Given the description of an element on the screen output the (x, y) to click on. 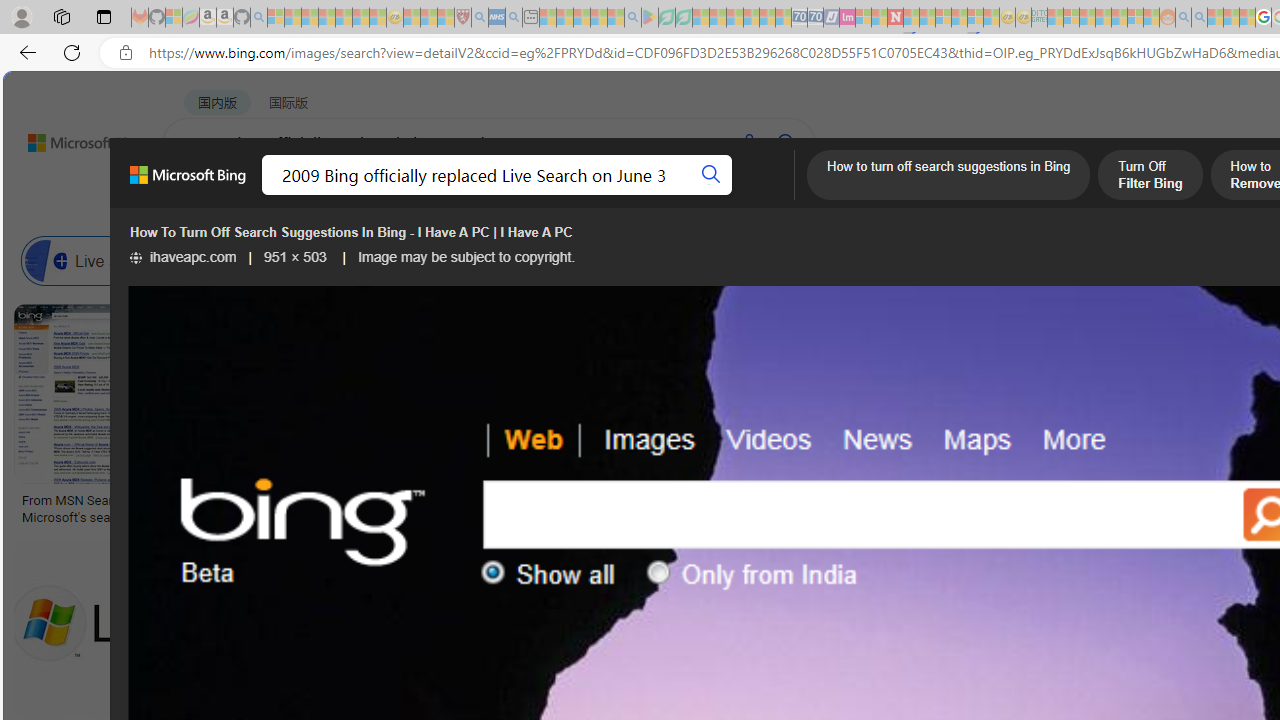
Live Search (45, 260)
ACADEMIC (635, 195)
WEB (201, 195)
Jobs - lastminute.com Investor Portal - Sleeping (847, 17)
Kinda Frugal - MSN - Sleeping (1119, 17)
WEB (201, 195)
MY BING (276, 195)
Bing Voice Search (213, 260)
Search button (712, 174)
